Given the description of an element on the screen output the (x, y) to click on. 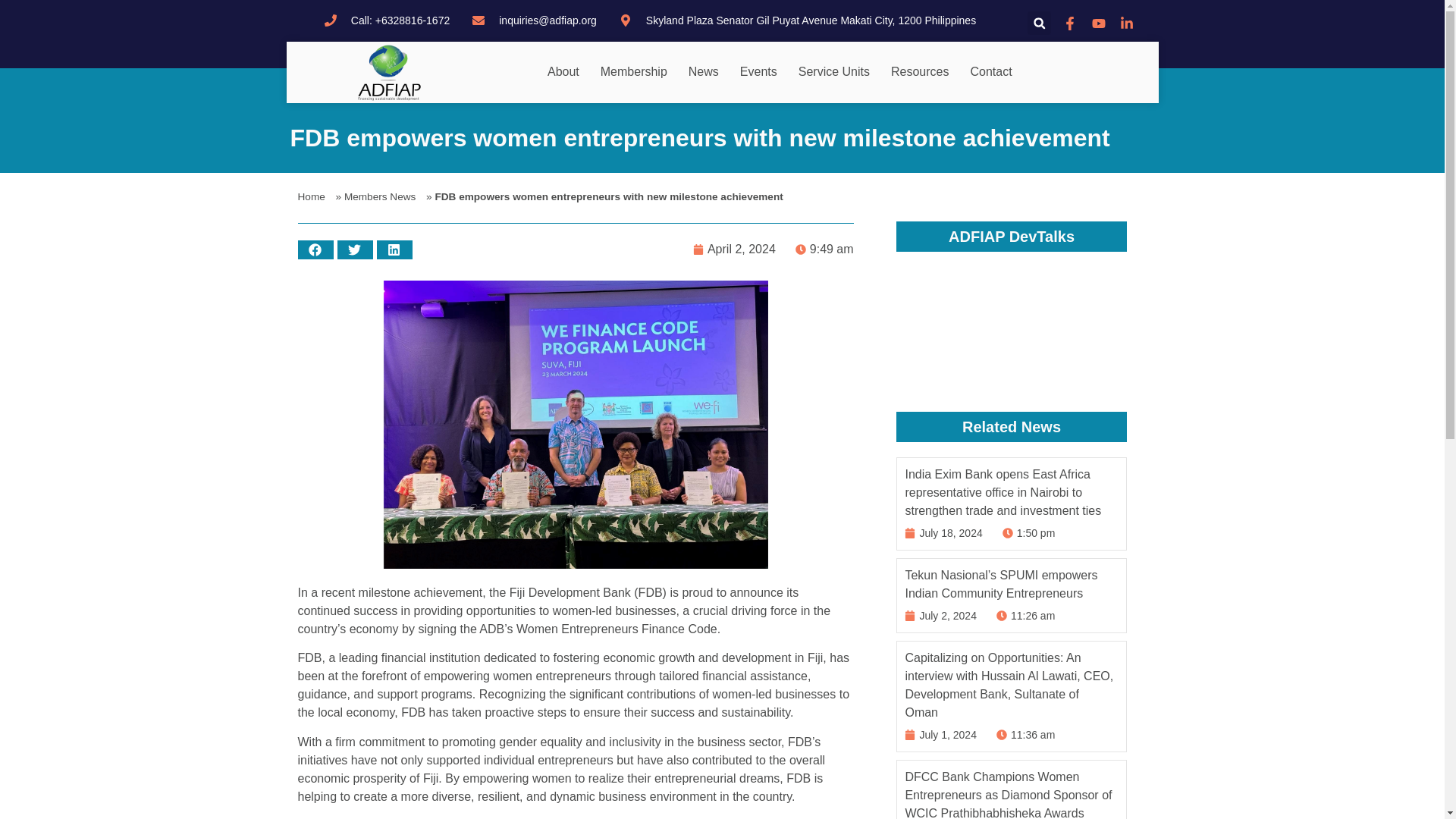
Contact (994, 71)
Resources (923, 71)
Events (761, 71)
Service Units (837, 71)
Membership (637, 71)
About (566, 71)
News (707, 71)
